Given the description of an element on the screen output the (x, y) to click on. 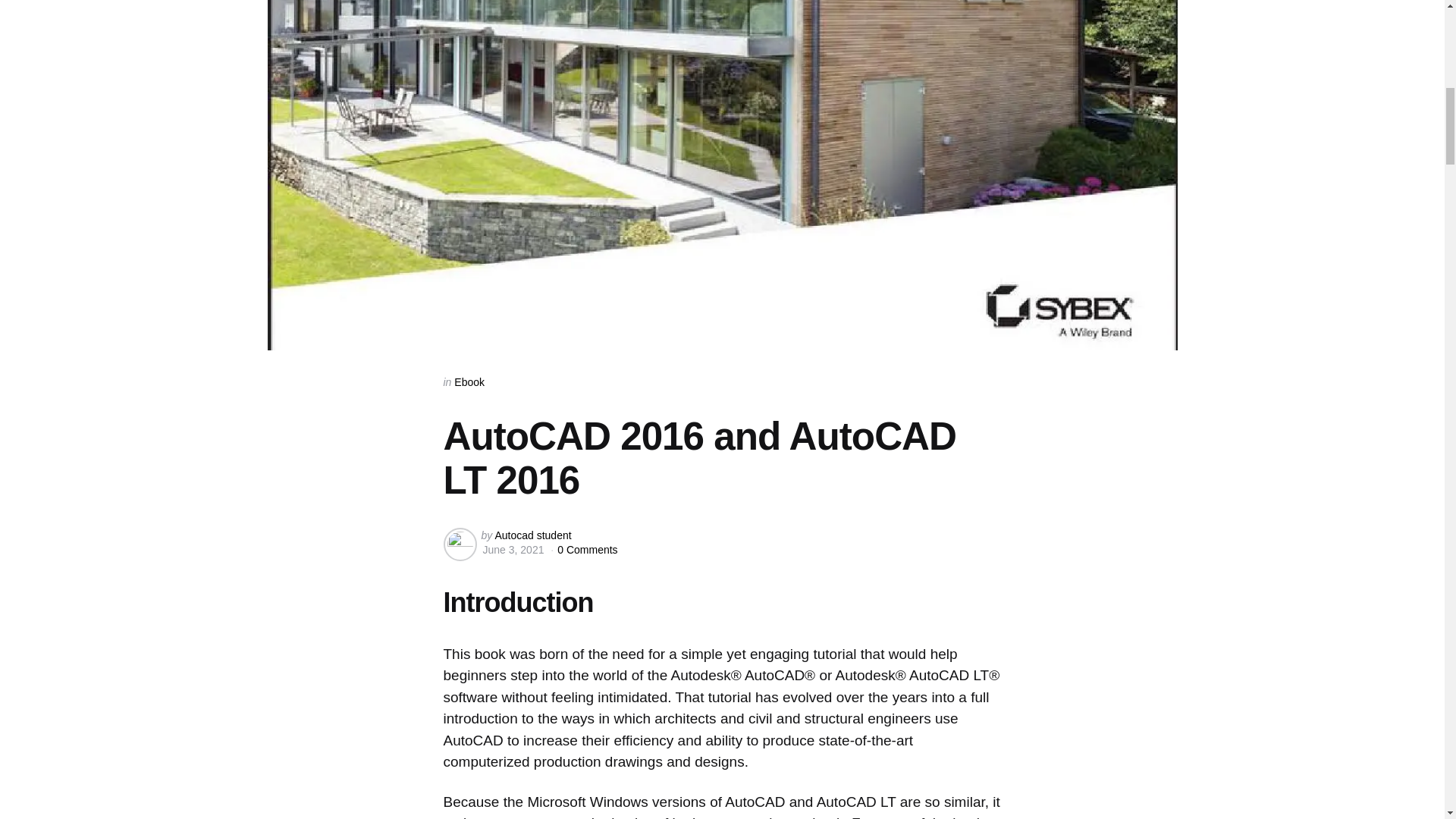
0 Comments (587, 549)
Ebook (469, 381)
Autocad student (532, 535)
